Given the description of an element on the screen output the (x, y) to click on. 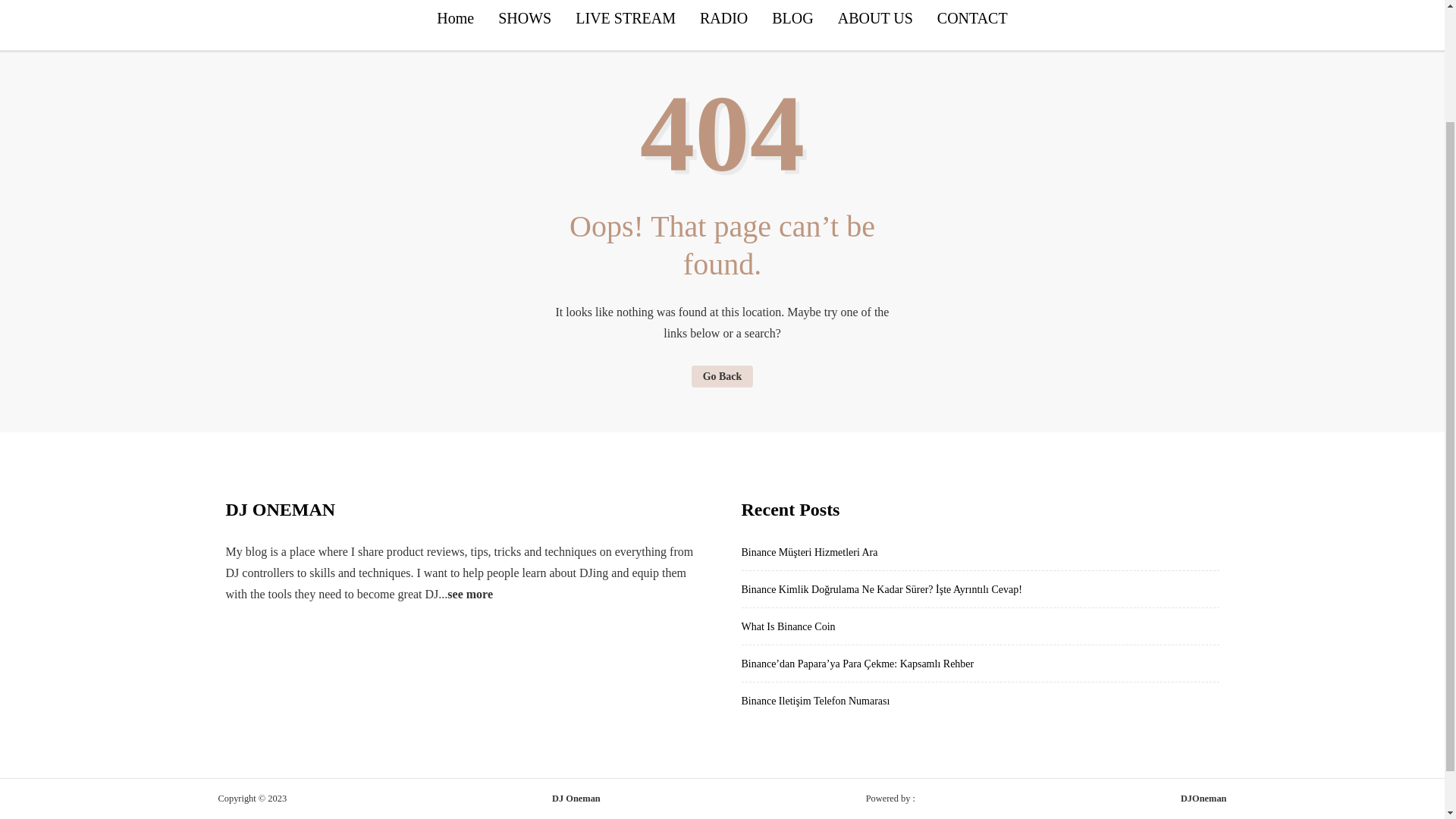
What Is Binance Coin (788, 626)
DJ Oneman (575, 799)
LIVE STREAM (625, 24)
CONTACT (972, 24)
see more (469, 594)
RADIO (724, 24)
SHOWS (524, 24)
DJOneman (1203, 798)
Go Back (722, 376)
ABOUT US (875, 24)
